Given the description of an element on the screen output the (x, y) to click on. 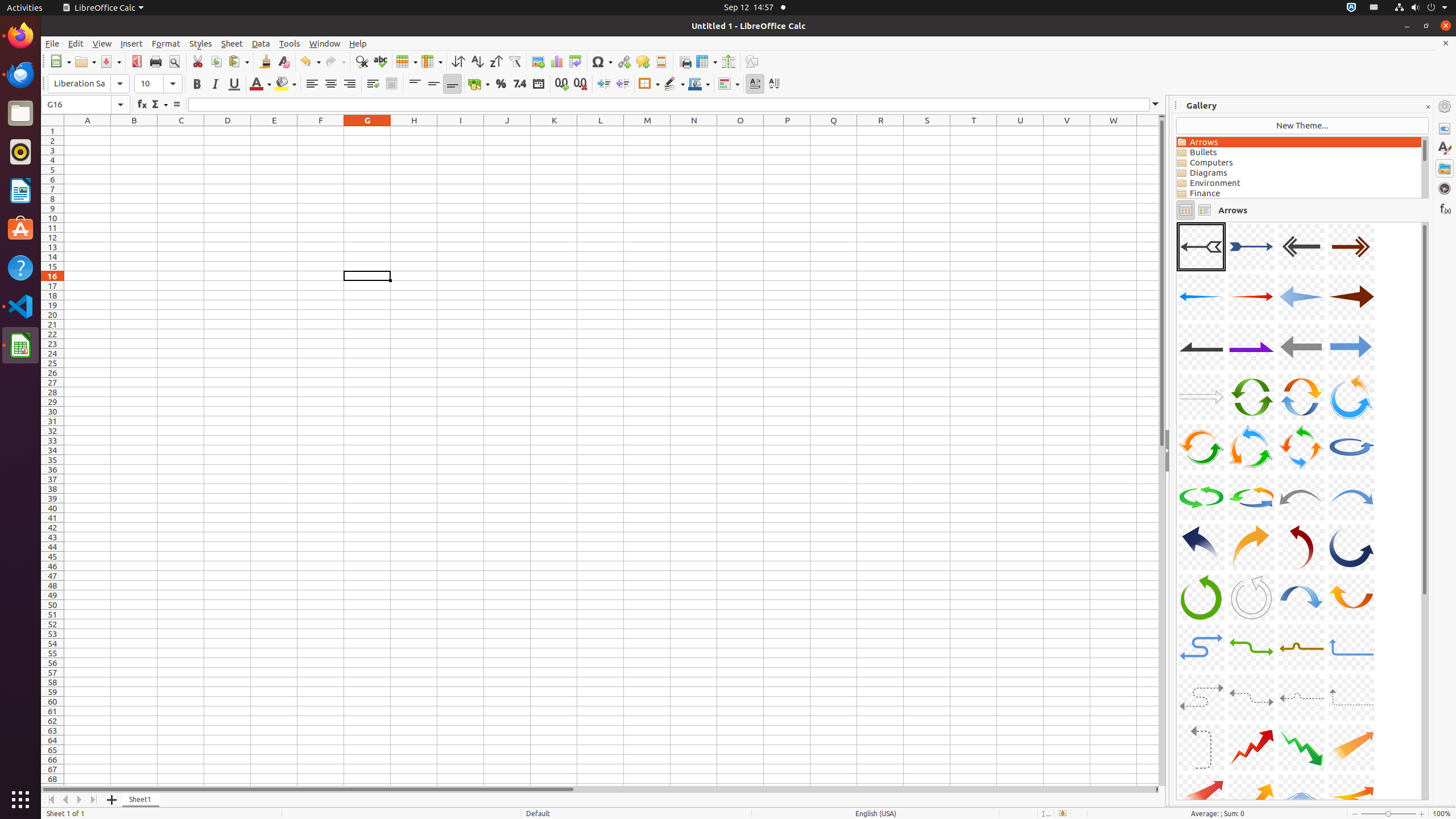
T1 Element type: table-cell (973, 130)
A38-CurvedArrow-Gray-TwoDirections Element type: list-item (1250, 696)
A35-CurvedArrow-Brown-Left Element type: list-item (1300, 646)
Copy Element type: push-button (216, 61)
